Given the description of an element on the screen output the (x, y) to click on. 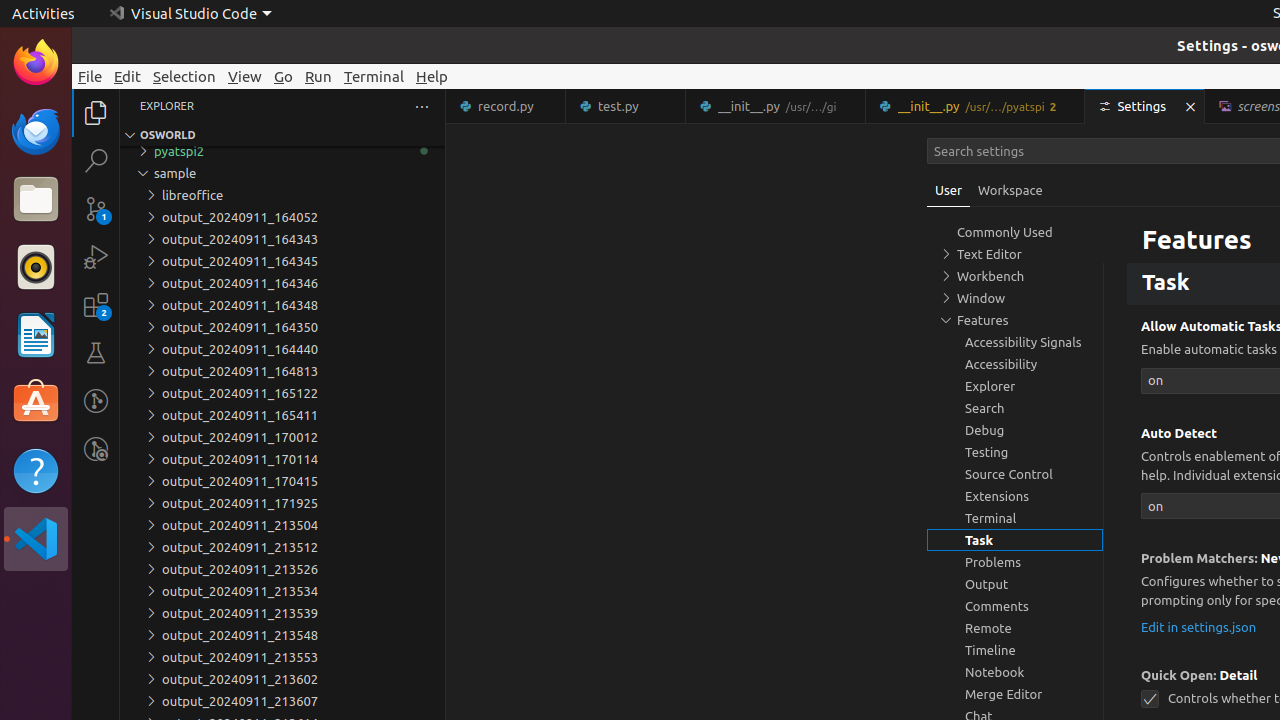
output_20240911_213548 Element type: tree-item (282, 635)
output_20240911_164813 Element type: tree-item (282, 371)
Accessibility Signals, group Element type: tree-item (1015, 342)
Task, group Element type: tree-item (1015, 540)
